Given the description of an element on the screen output the (x, y) to click on. 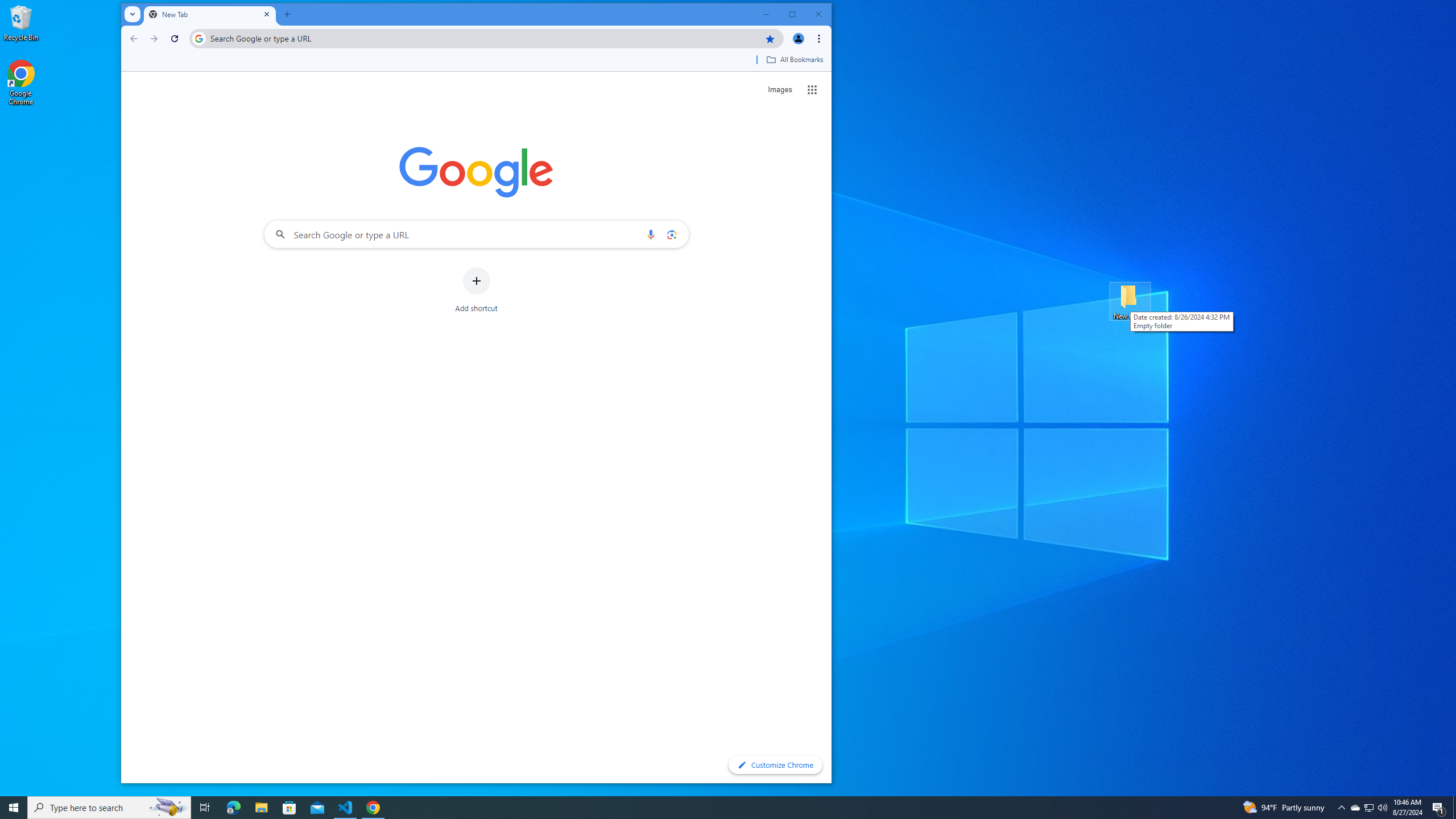
Google Chrome (21, 82)
New folder (1130, 301)
Recycle Bin (21, 22)
